Given the description of an element on the screen output the (x, y) to click on. 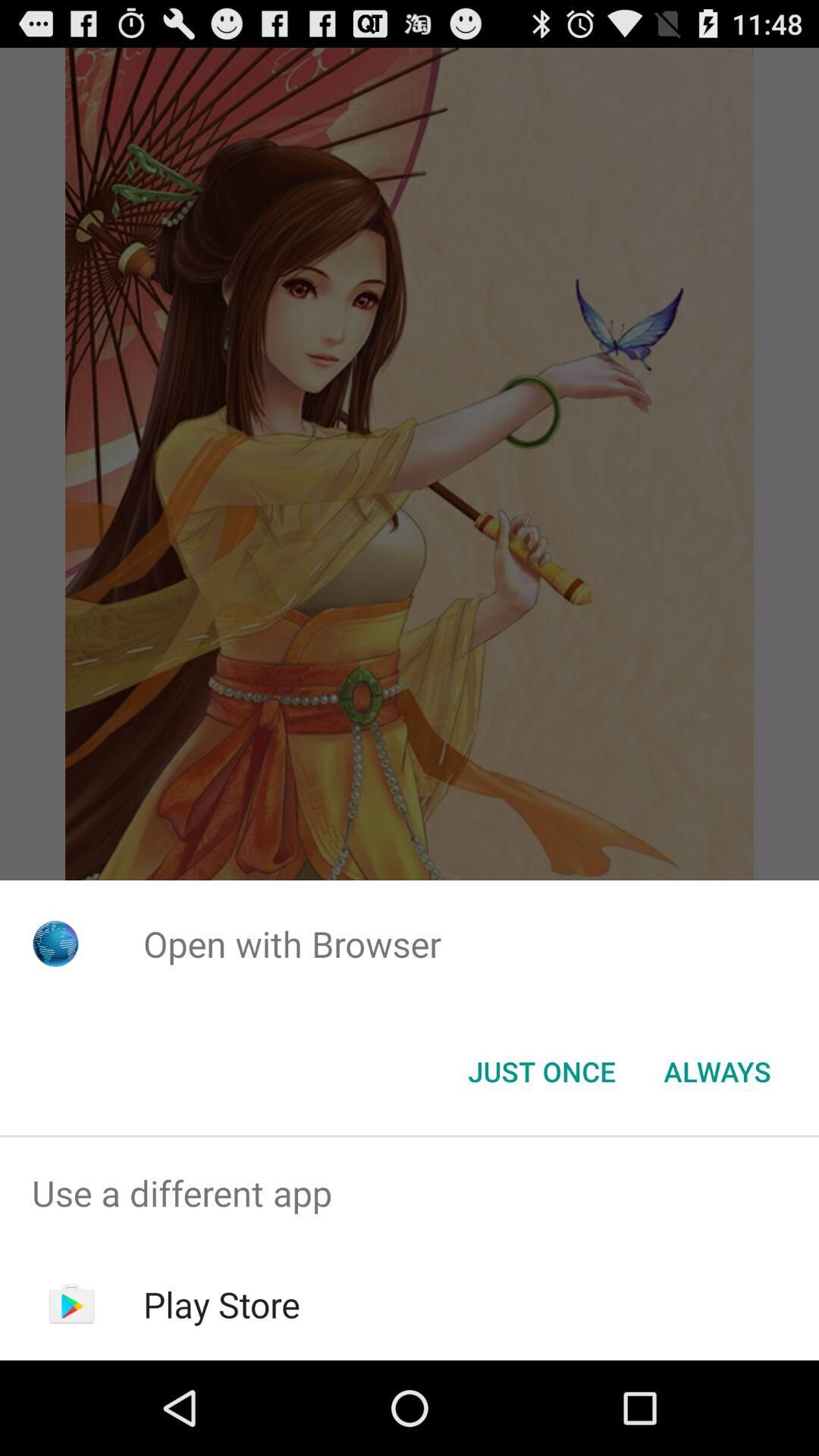
press item to the left of the always item (541, 1071)
